Given the description of an element on the screen output the (x, y) to click on. 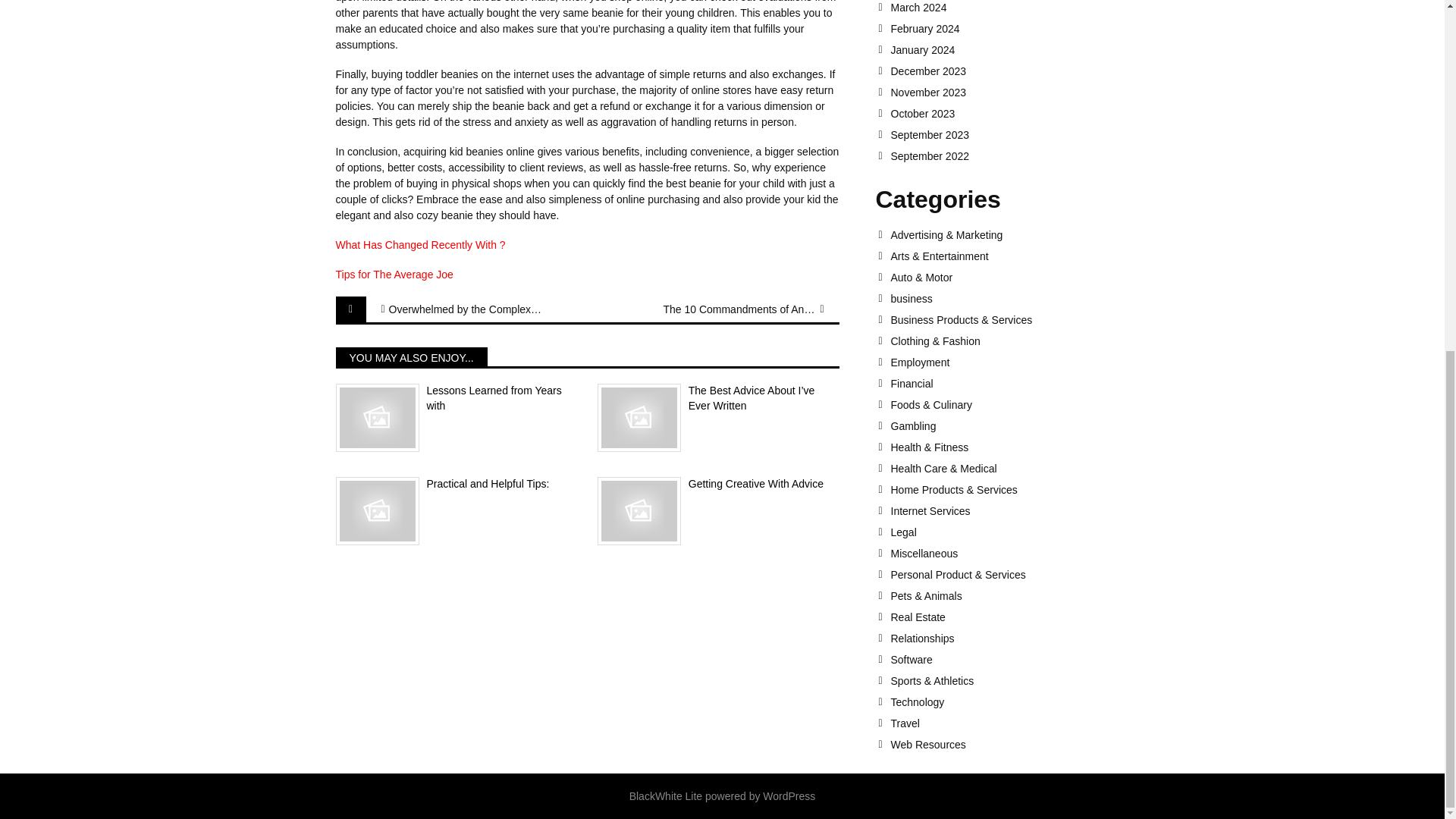
February 2024 (998, 28)
business (998, 298)
December 2023 (998, 70)
Getting Creative With Advice (718, 484)
January 2024 (998, 50)
September 2022 (998, 155)
Lessons Learned from Years with (455, 398)
September 2023 (998, 134)
November 2023 (998, 92)
What Has Changed Recently With ? (419, 244)
The 10 Commandments of And How Learn More (739, 309)
March 2024 (998, 7)
Overwhelmed by the Complexity of ? This May Help (464, 309)
Tips for The Average Joe (393, 274)
October 2023 (998, 113)
